Given the description of an element on the screen output the (x, y) to click on. 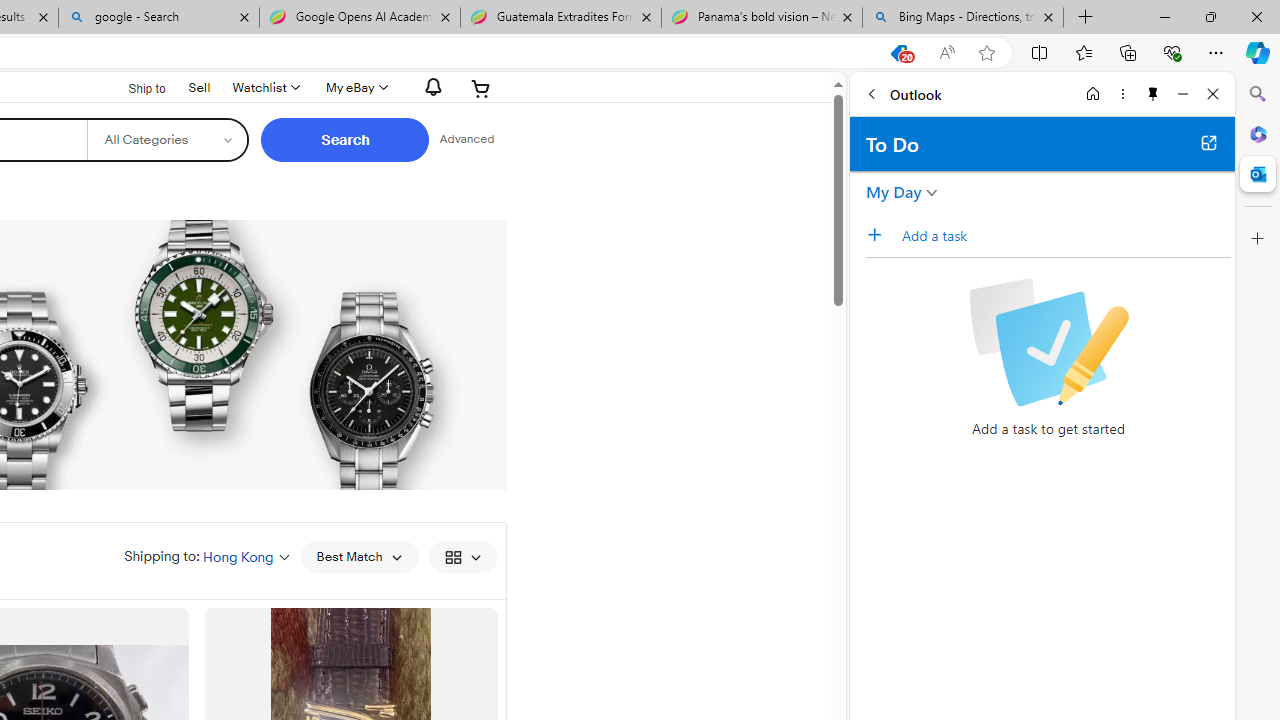
Watchlist (264, 88)
Expand Cart (481, 88)
Your shopping cart (481, 88)
My eBayExpand My eBay (354, 88)
google - Search (158, 17)
Checkbox with a pencil (1047, 342)
Google Opens AI Academy for Startups - Nearshore Americas (359, 17)
Add a task (881, 235)
